Given the description of an element on the screen output the (x, y) to click on. 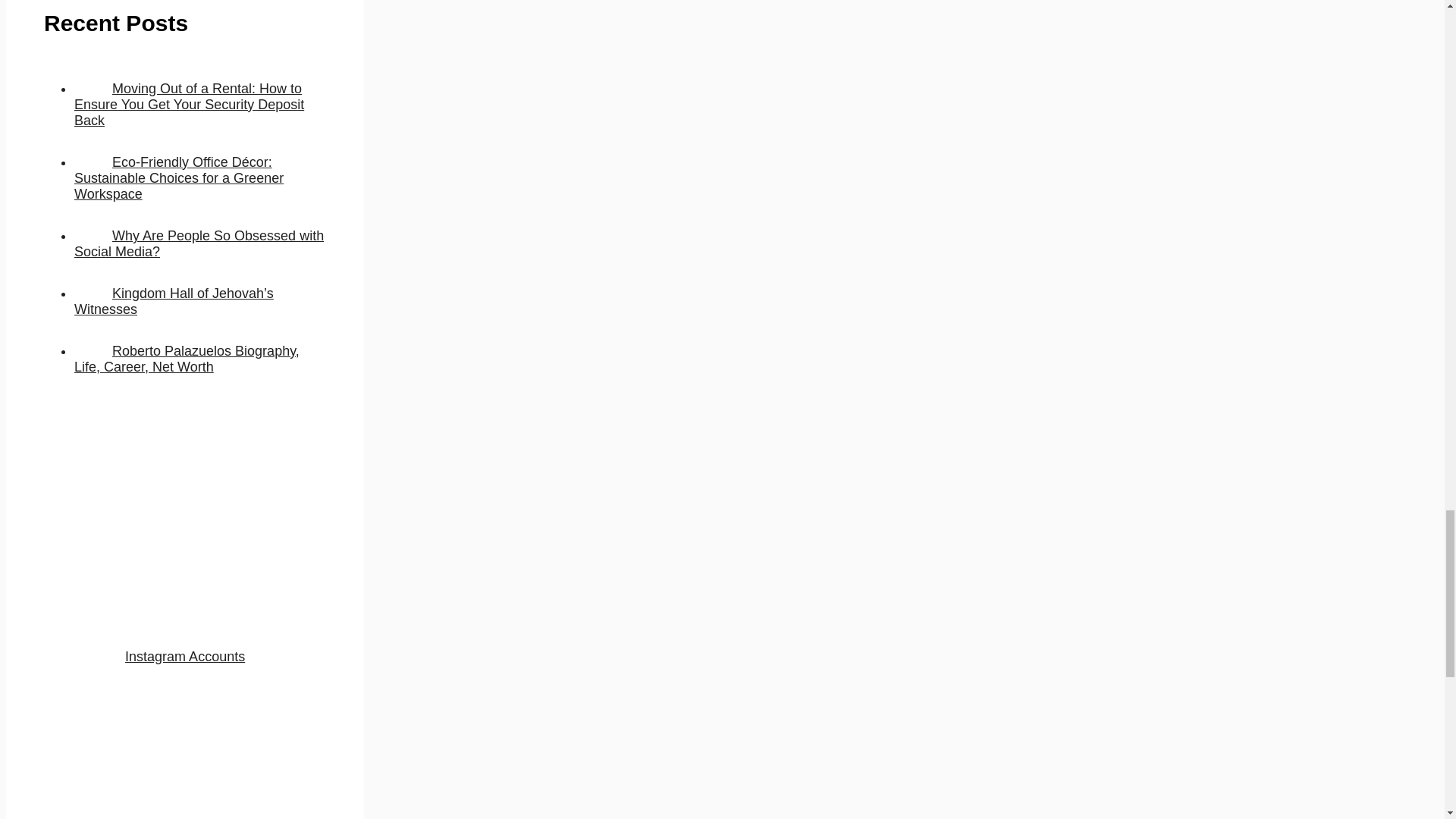
Instagram Accounts (184, 656)
Why Are People So Obsessed with Social Media? (198, 243)
Roberto Palazuelos Biography, Life, Career, Net Worth (186, 358)
